Given the description of an element on the screen output the (x, y) to click on. 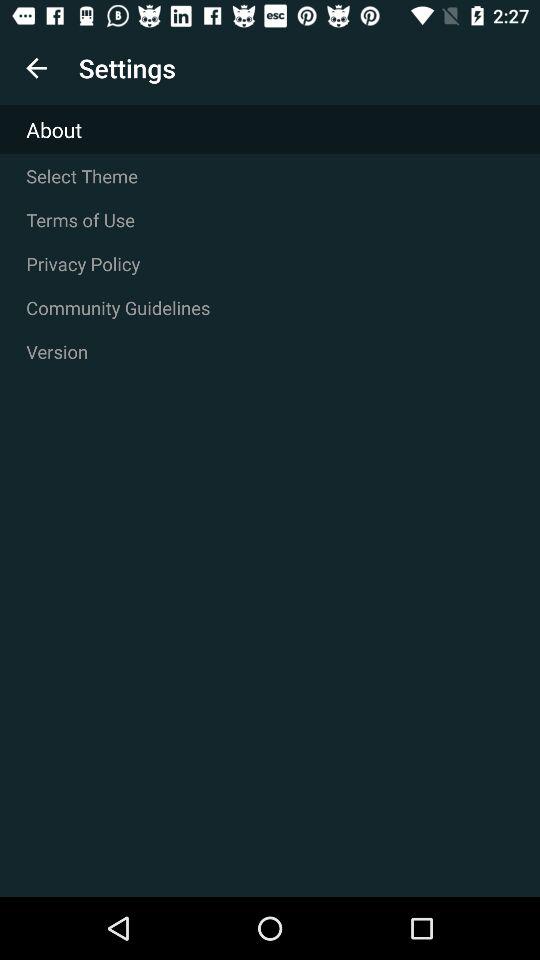
scroll until the privacy policy item (270, 263)
